Given the description of an element on the screen output the (x, y) to click on. 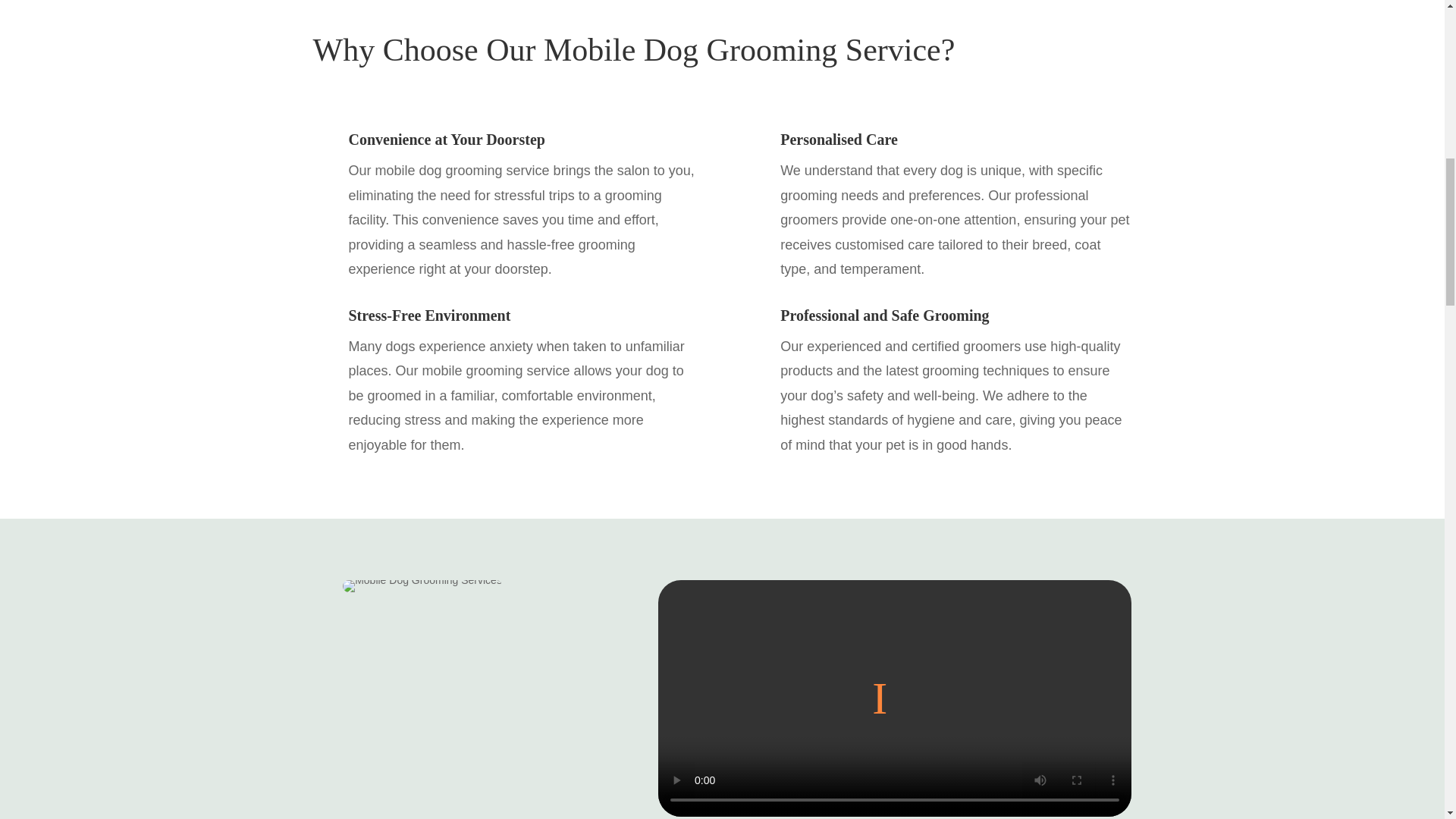
mobile-dog-grooming (422, 585)
